Given the description of an element on the screen output the (x, y) to click on. 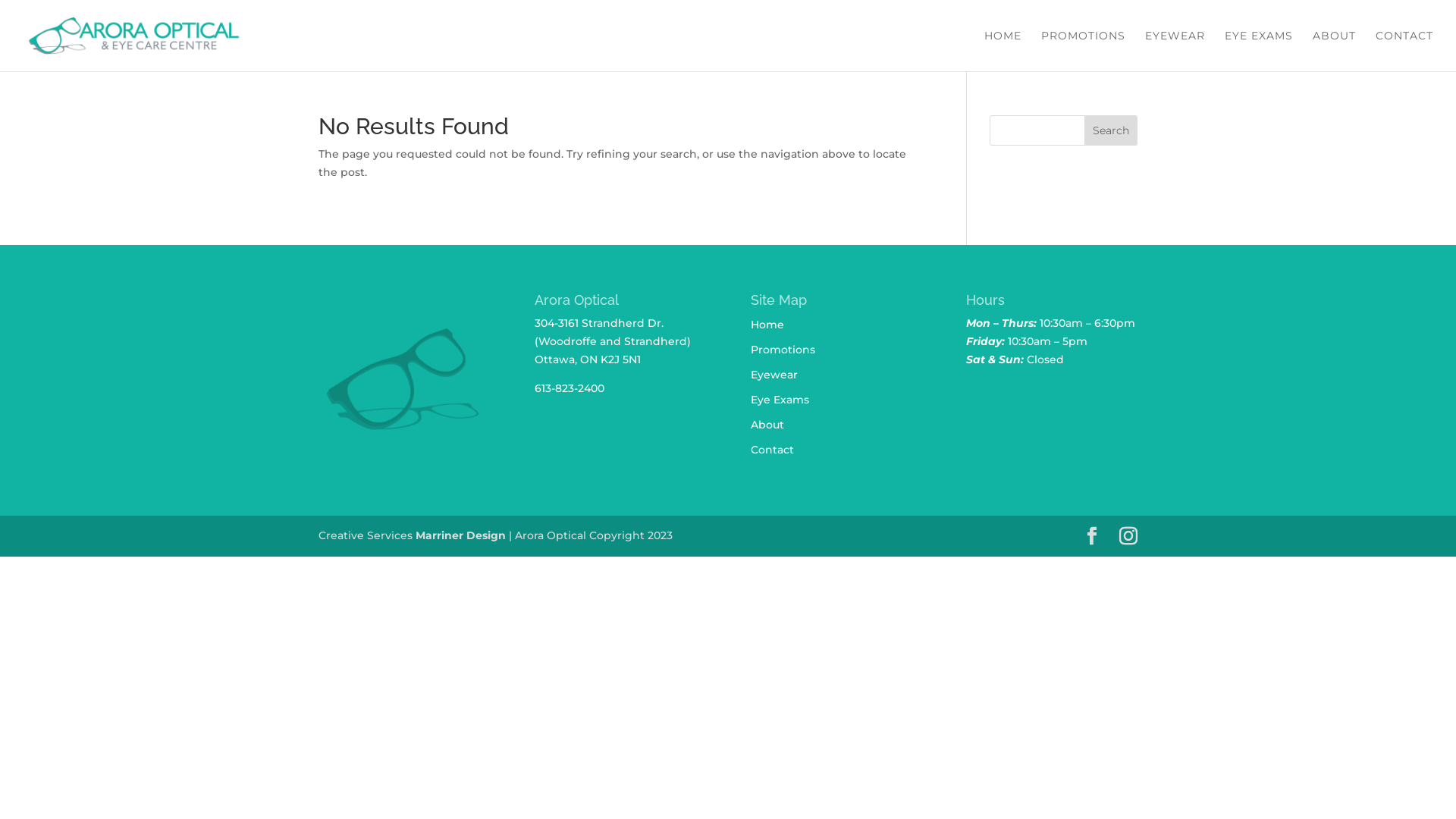
Search Element type: text (1110, 130)
Promotions Element type: text (782, 349)
PROMOTIONS Element type: text (1083, 50)
ABOUT Element type: text (1333, 50)
613-823-2400 Element type: text (569, 388)
CONTACT Element type: text (1404, 50)
Marriner Design Element type: text (460, 535)
HOME Element type: text (1002, 50)
EYEWEAR Element type: text (1174, 50)
Eyewear Element type: text (773, 374)
Eye Exams Element type: text (779, 399)
Contact Element type: text (771, 449)
About Element type: text (767, 424)
Home Element type: text (767, 324)
EYE EXAMS Element type: text (1258, 50)
